Given the description of an element on the screen output the (x, y) to click on. 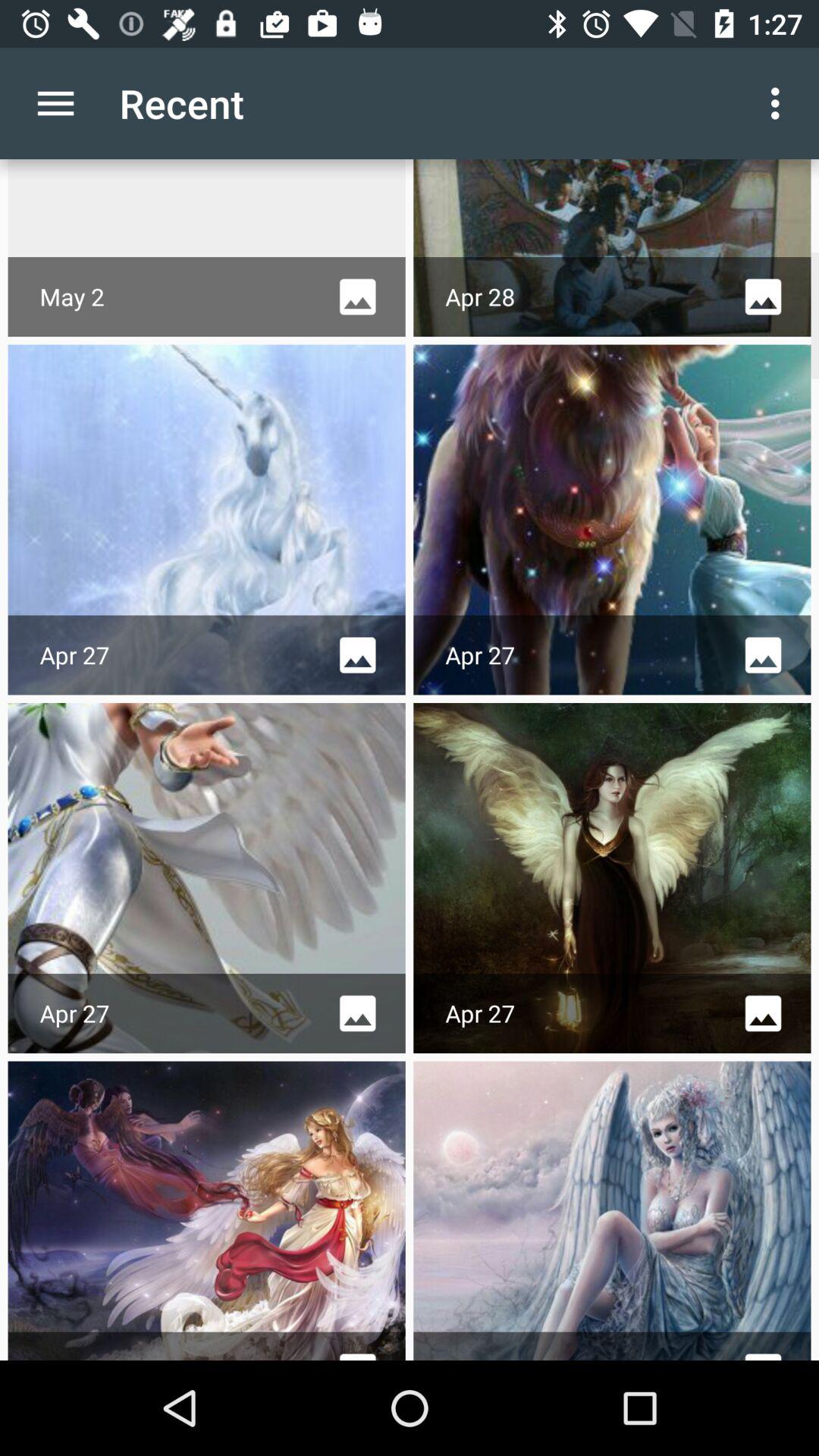
tap the icon next to the recent app (55, 103)
